Given the description of an element on the screen output the (x, y) to click on. 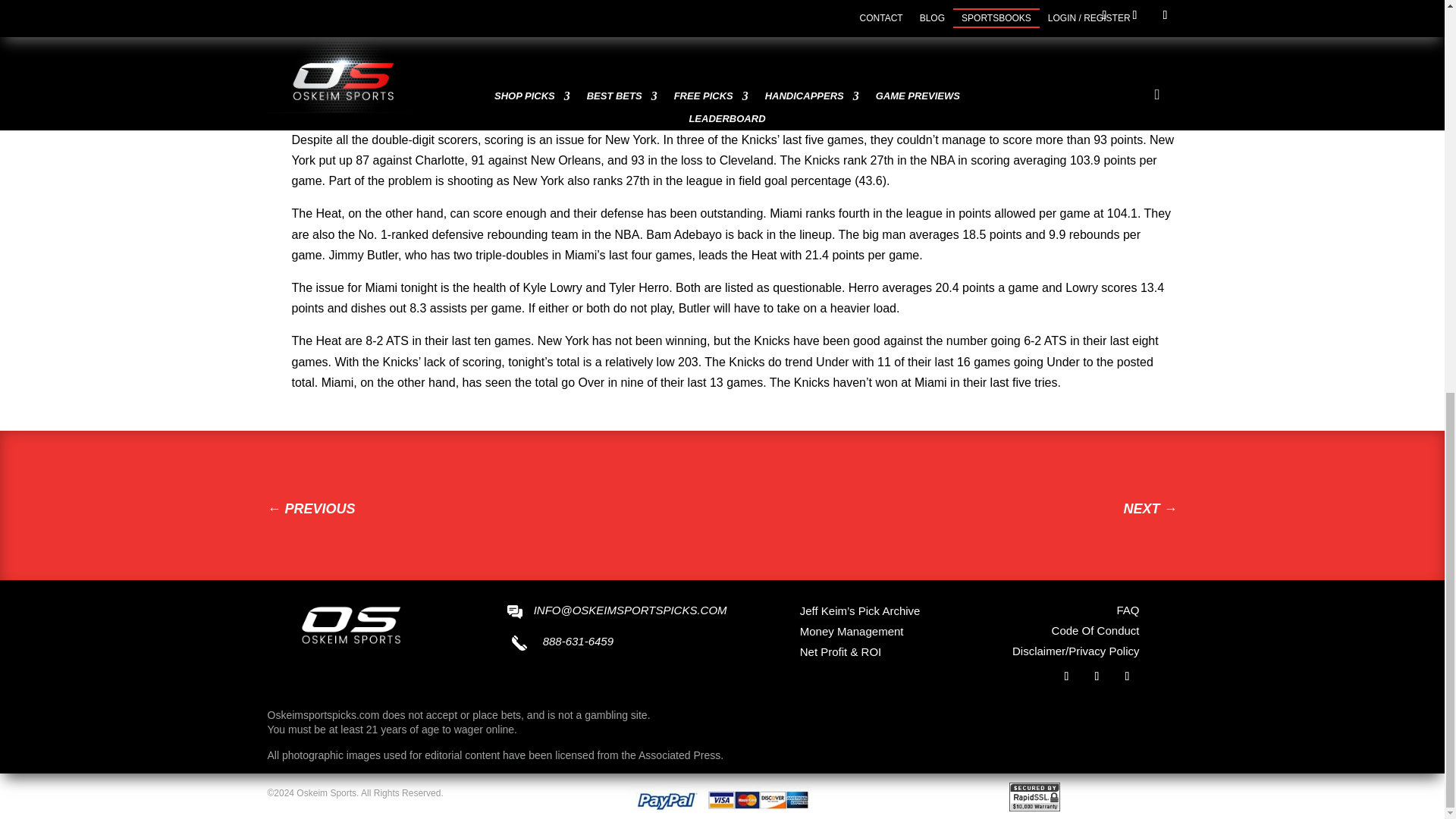
Follow on Instagram (1126, 676)
Follow on X (1096, 676)
Follow on Facebook (1066, 676)
paypal (721, 799)
